Given the description of an element on the screen output the (x, y) to click on. 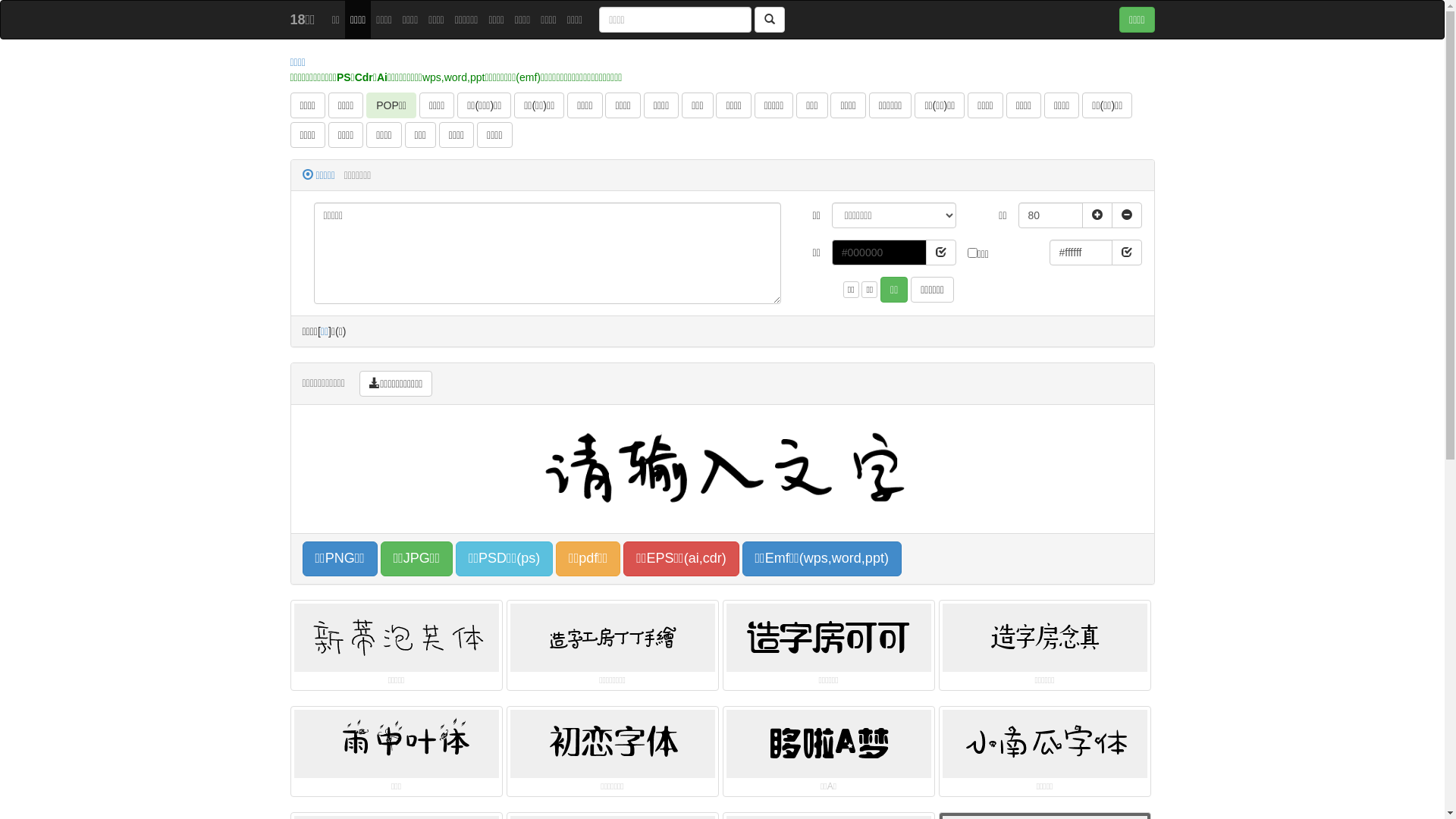
on Element type: text (972, 252)
